Given the description of an element on the screen output the (x, y) to click on. 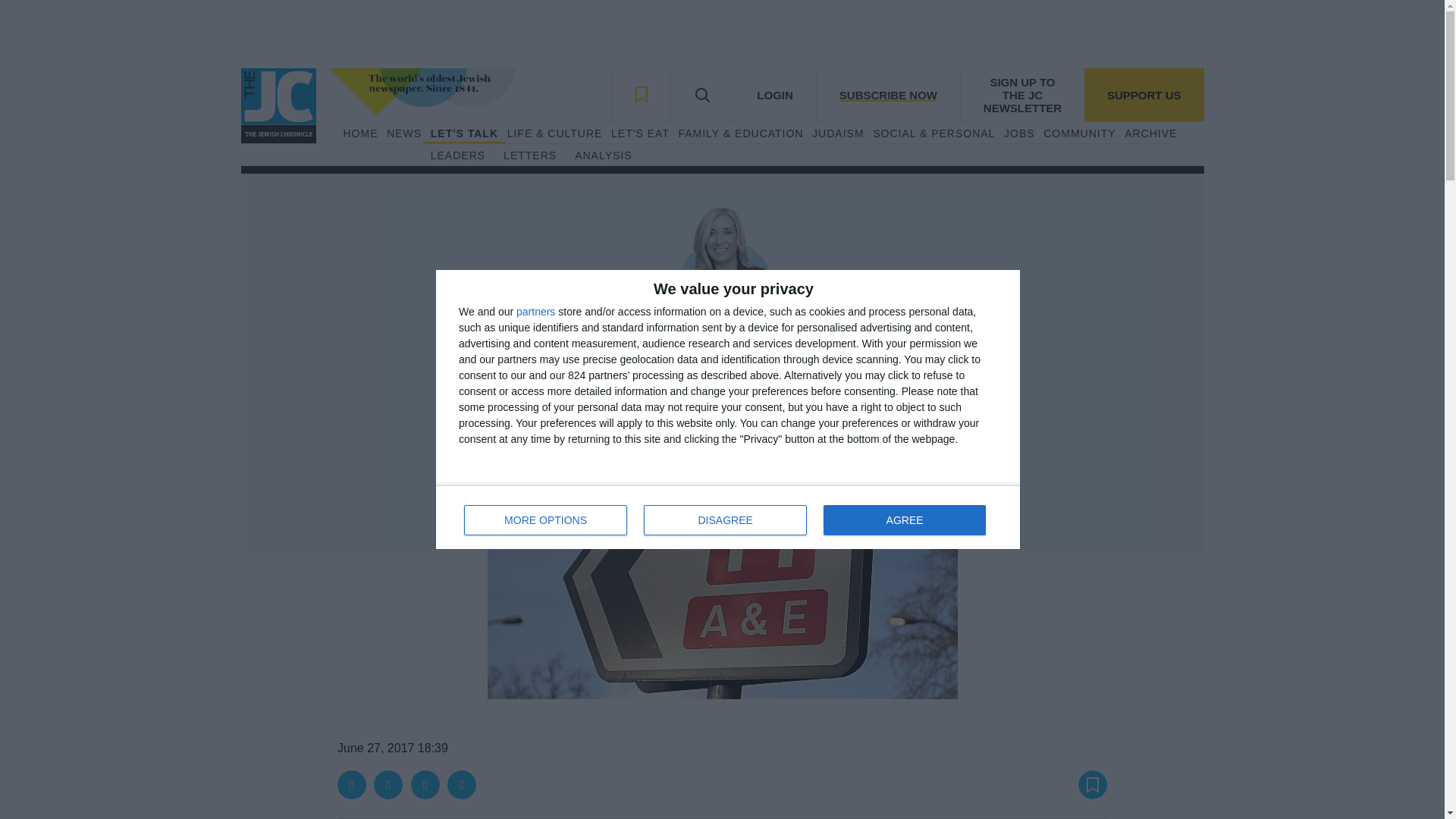
HOME (359, 133)
SUPPORT US (1144, 94)
AGREE (904, 520)
SIGN UP TO THE JC NEWSLETTER (1021, 94)
LEADERS (457, 155)
MORE OPTIONS (545, 520)
JOBS (1019, 133)
SUBSCRIBE NOW (887, 94)
JUDAISM (837, 133)
partners (535, 311)
DISAGREE (724, 520)
LET'S EAT (640, 133)
LETTERS (727, 516)
COMMUNITY (529, 155)
